Given the description of an element on the screen output the (x, y) to click on. 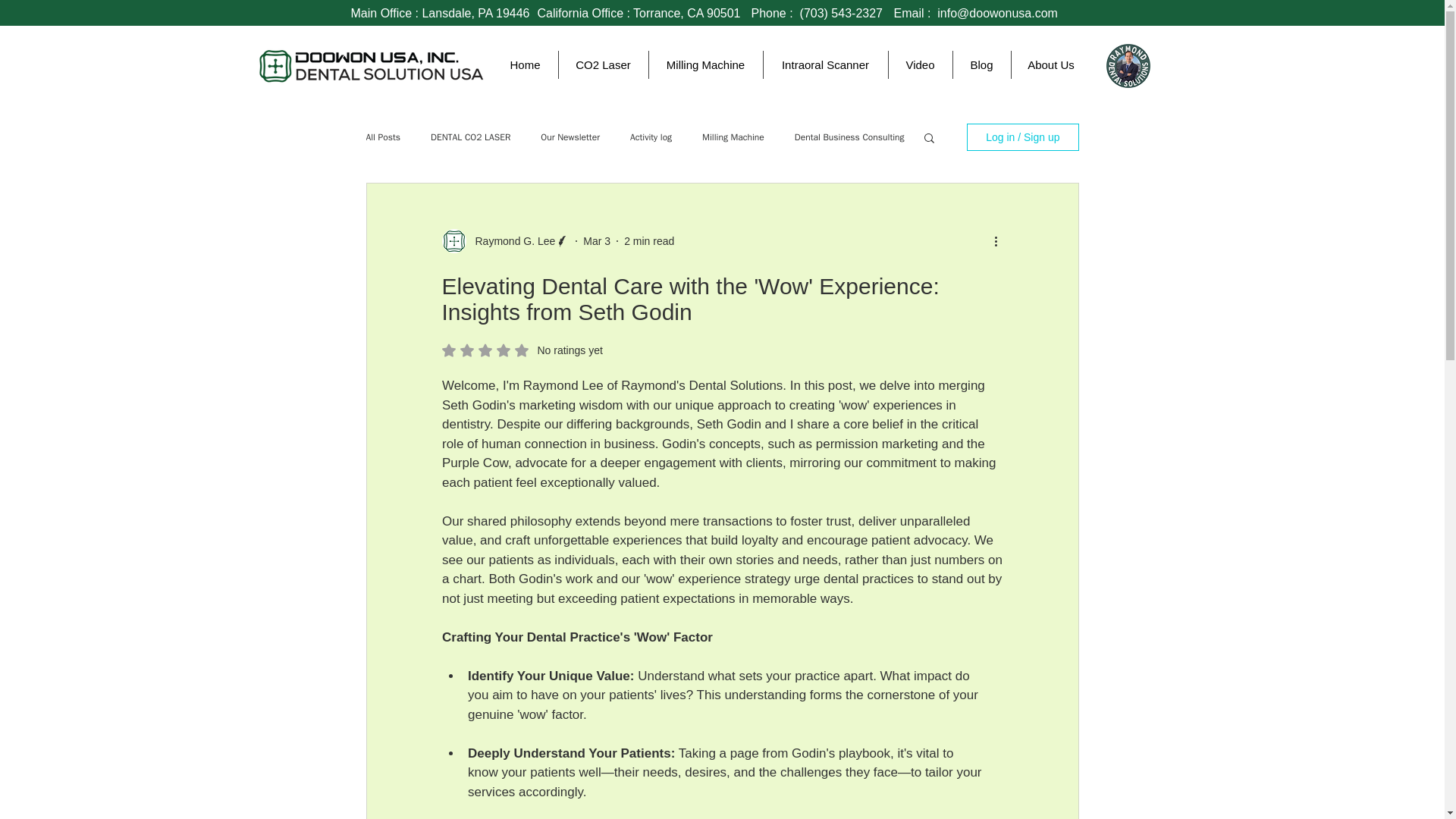
DENTAL CO2 LASER (470, 136)
CO2 Laser (602, 64)
Home (525, 64)
Doowon USA logo a.k.a Dental Solution USA (370, 62)
Dental Business Consulting (849, 136)
Milling Machine (704, 64)
Our Newsletter (569, 136)
Mar 3 (596, 241)
All Posts (521, 350)
